Given the description of an element on the screen output the (x, y) to click on. 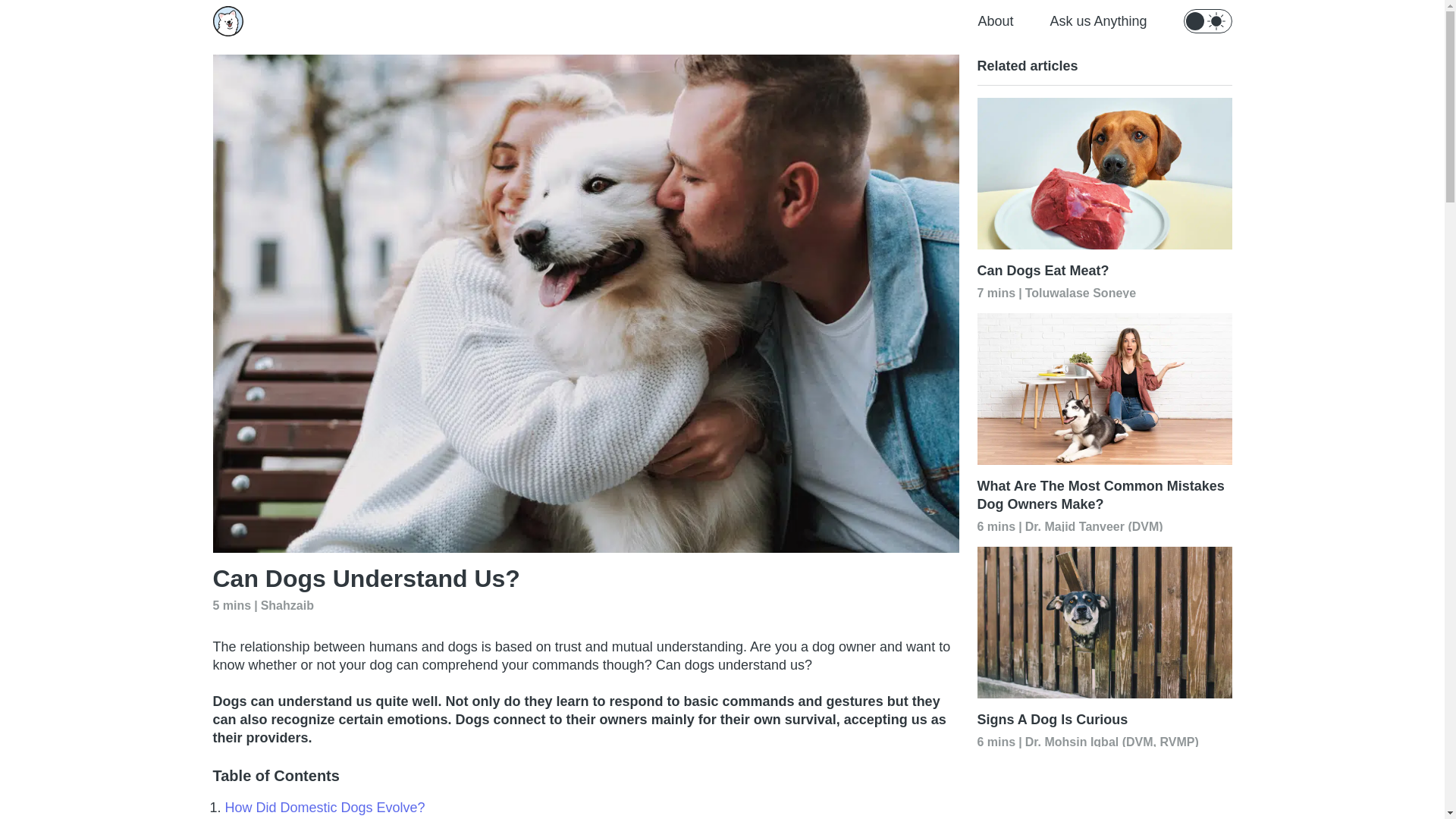
Toluwalase Soneye (1080, 291)
Shahzaib (287, 604)
7 minutes reading time (995, 292)
Can Dogs Eat Meat? (1103, 270)
About (994, 21)
Ask us Anything (1098, 21)
What Are The Most Common Mistakes Dog Owners Make? (1103, 493)
Signs A Dog Is Curious (1103, 719)
6 minutes reading time (995, 525)
